Given the description of an element on the screen output the (x, y) to click on. 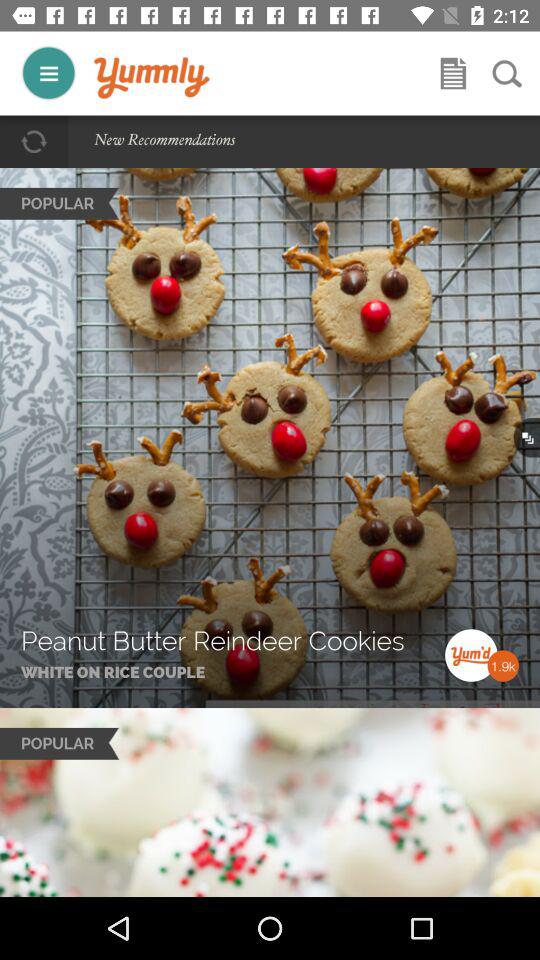
launch the icon to the right of peanut butter reindeer (445, 629)
